Given the description of an element on the screen output the (x, y) to click on. 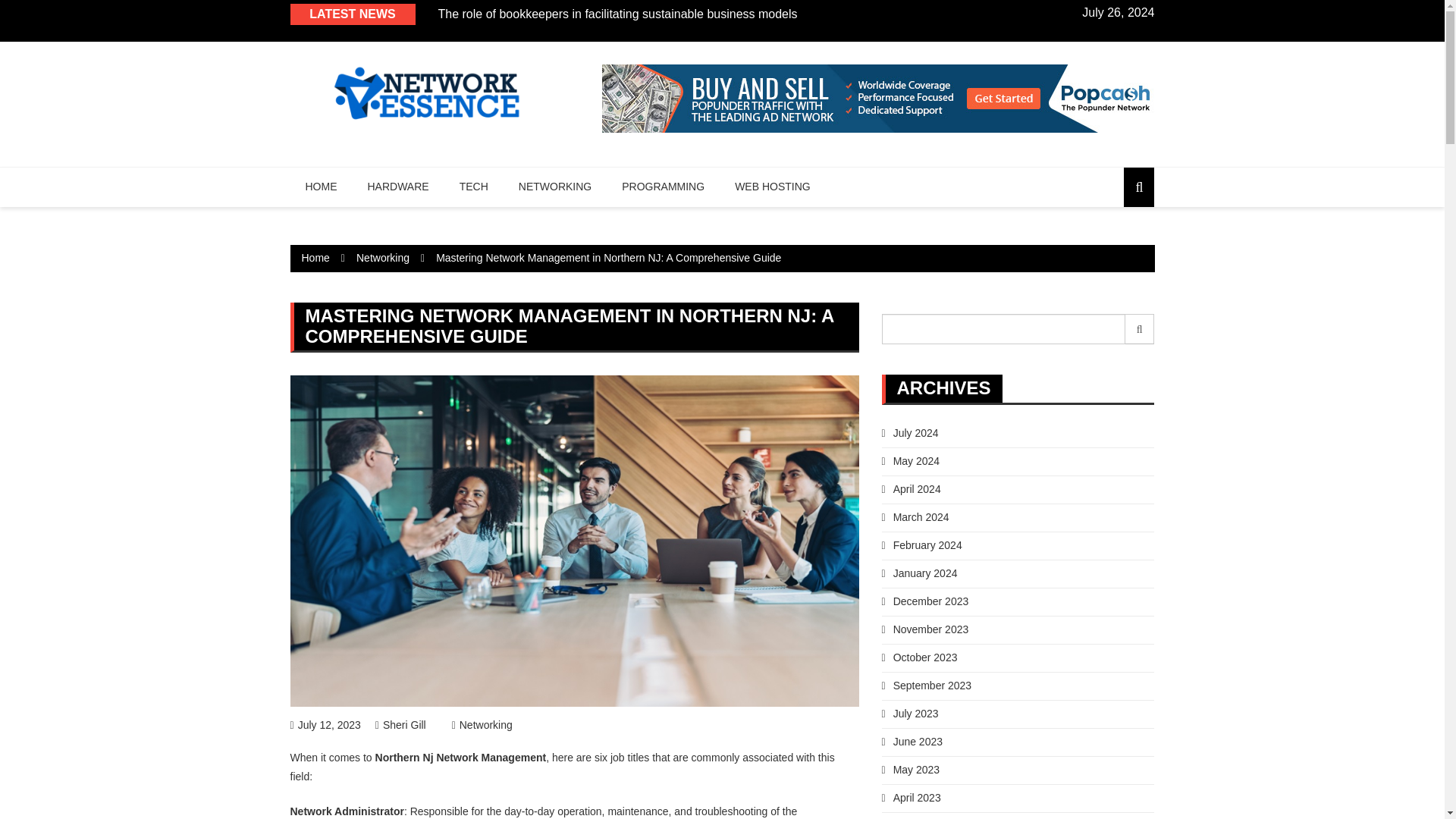
Search (1139, 328)
December 2023 (924, 601)
Sheri Gill (400, 725)
Networking (382, 257)
April 2024 (910, 489)
HARDWARE (398, 187)
May 2024 (909, 460)
NETWORKING (555, 187)
WEB HOSTING (772, 187)
Home (315, 257)
January 2024 (918, 573)
PROGRAMMING (663, 187)
Northern Nj Network Management (461, 757)
February 2024 (920, 544)
